Given the description of an element on the screen output the (x, y) to click on. 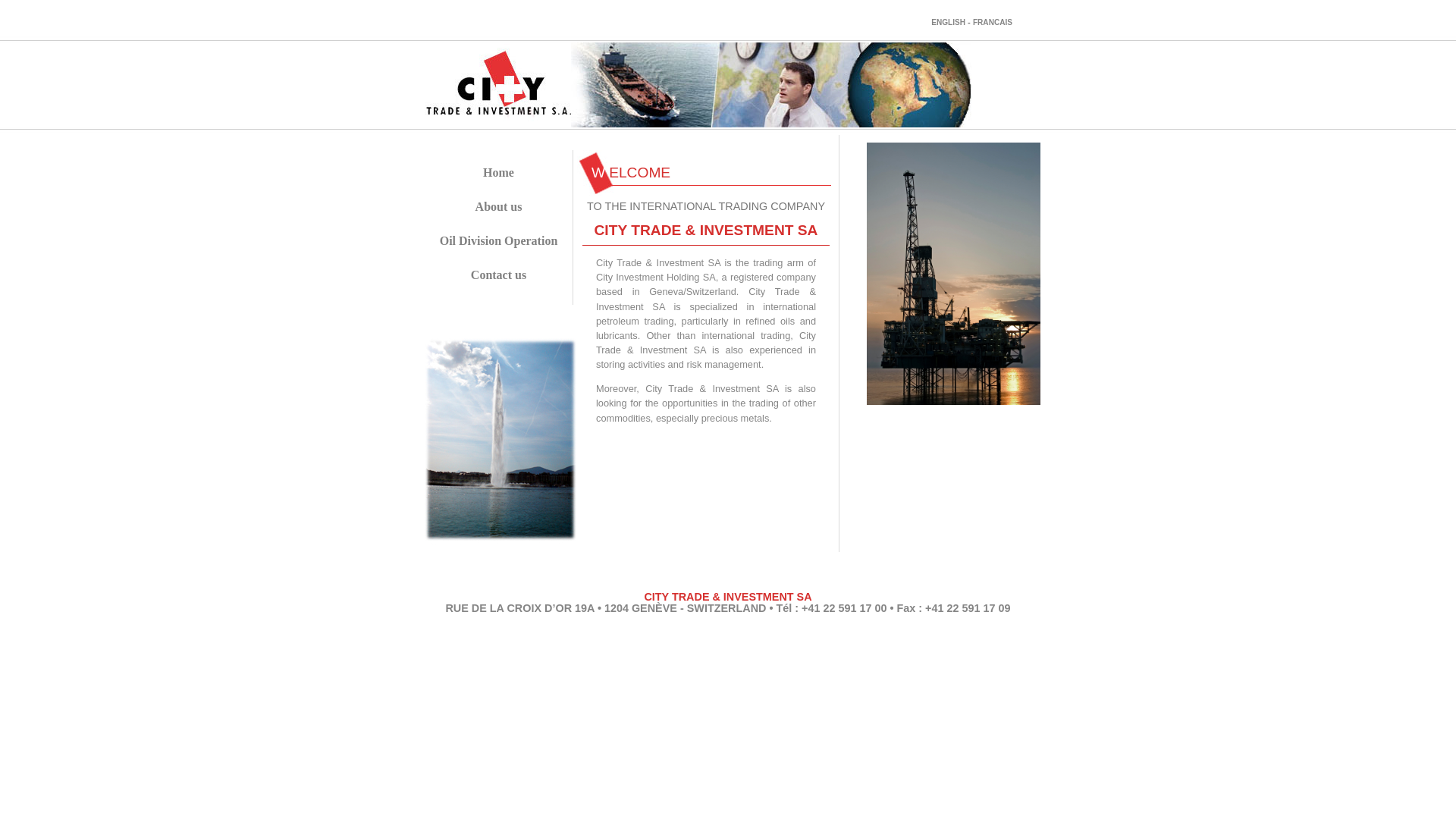
About us Element type: text (498, 206)
City_Trade Element type: hover (953, 273)
ENGLISH Element type: text (948, 22)
Contact us Element type: text (498, 274)
Home Element type: text (498, 172)
Oil Division Operation Element type: text (498, 240)
FRANCAIS Element type: text (992, 22)
